Given the description of an element on the screen output the (x, y) to click on. 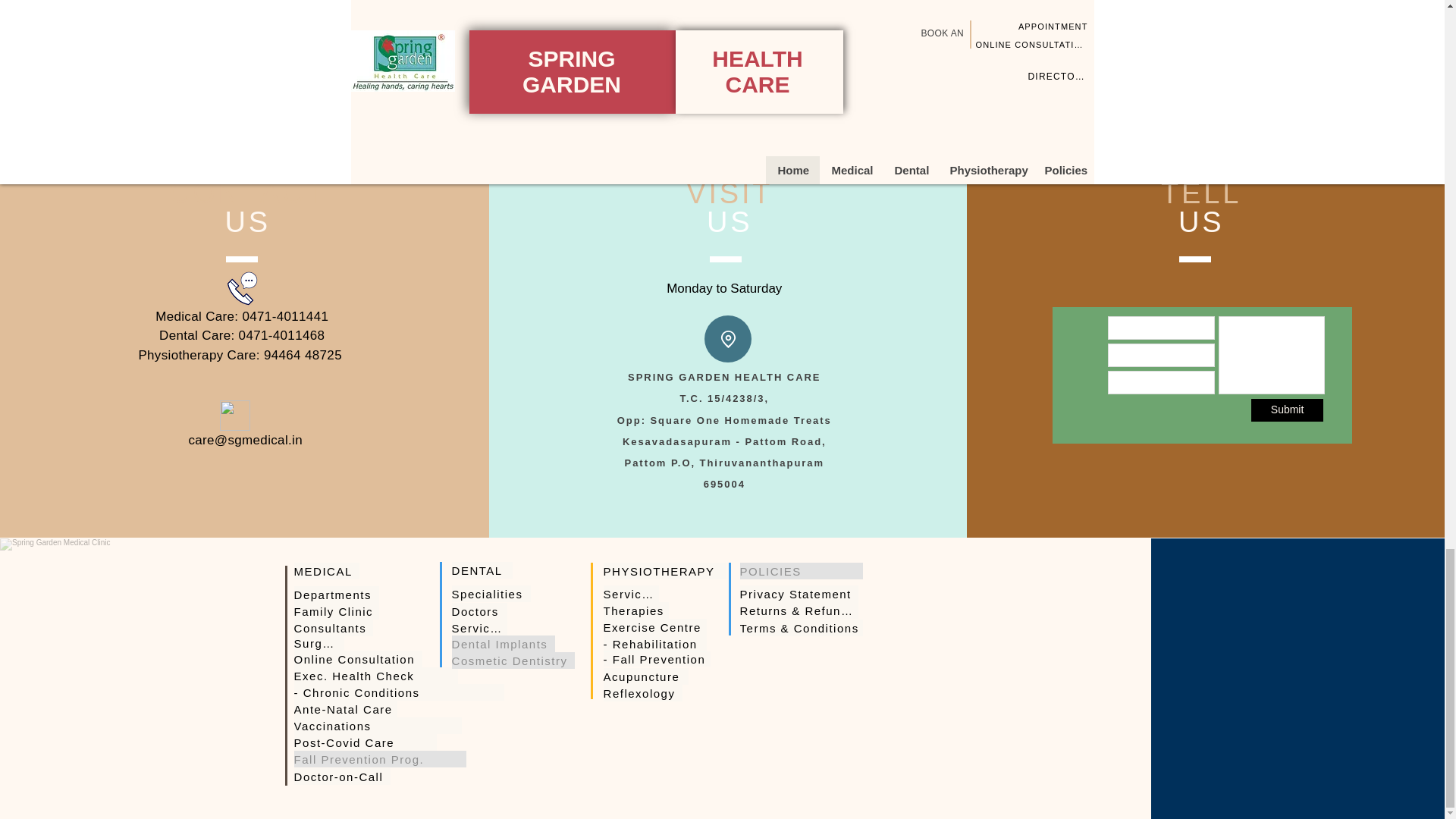
Ante-Natal Care (345, 709)
DENTAL (481, 569)
- Chronic Conditions (398, 692)
MEDICAL (326, 570)
Services (478, 627)
Surgery (318, 643)
Departments (336, 594)
Family Clinic (336, 610)
Cosmetic Dentistry (513, 660)
Dental Implants (502, 643)
Specialities (491, 593)
Doctors (478, 610)
Online Consultation (358, 658)
Exec. Health Check (376, 675)
Consultants (333, 627)
